Given the description of an element on the screen output the (x, y) to click on. 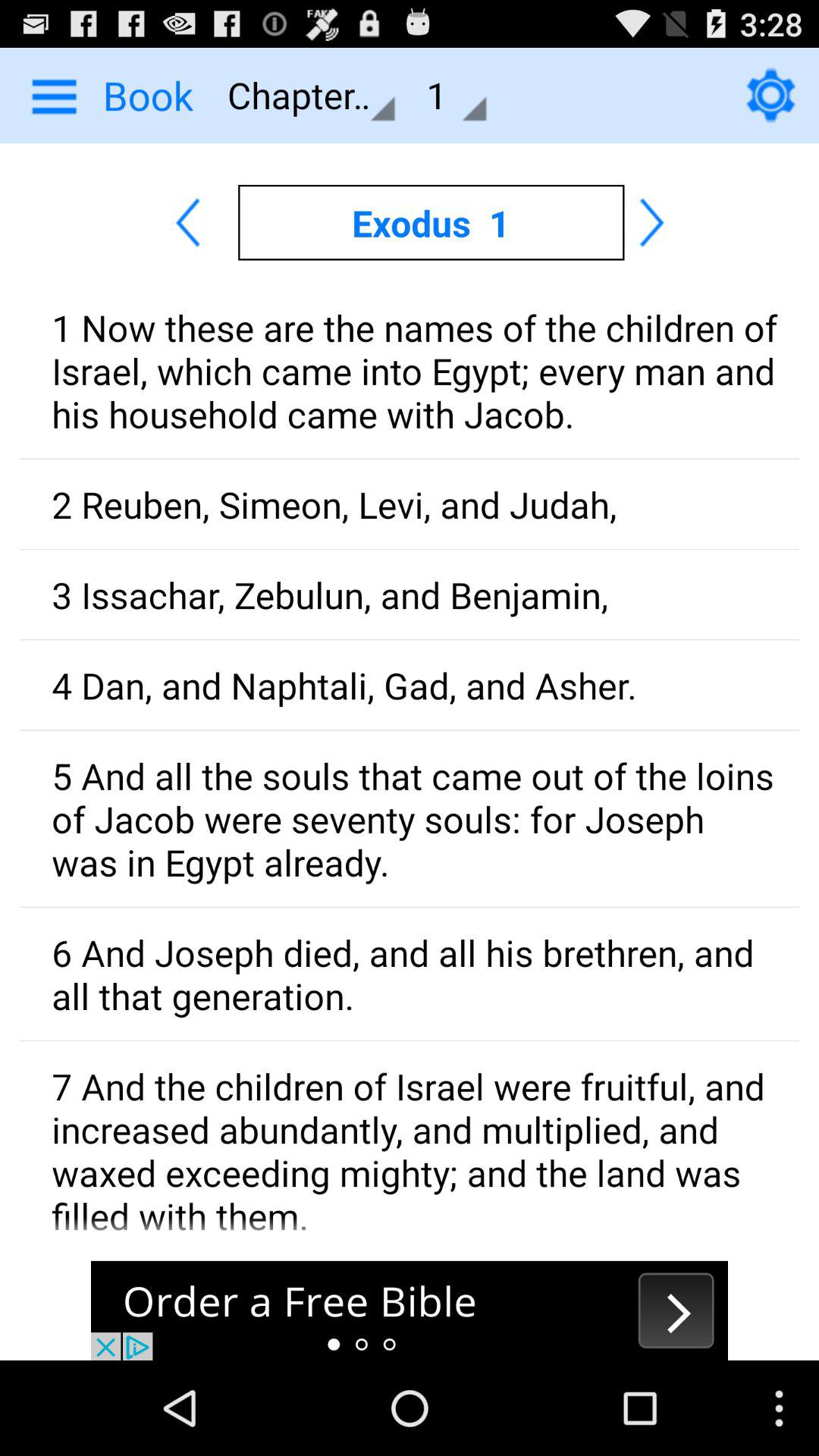
order a free bible (409, 1310)
